Given the description of an element on the screen output the (x, y) to click on. 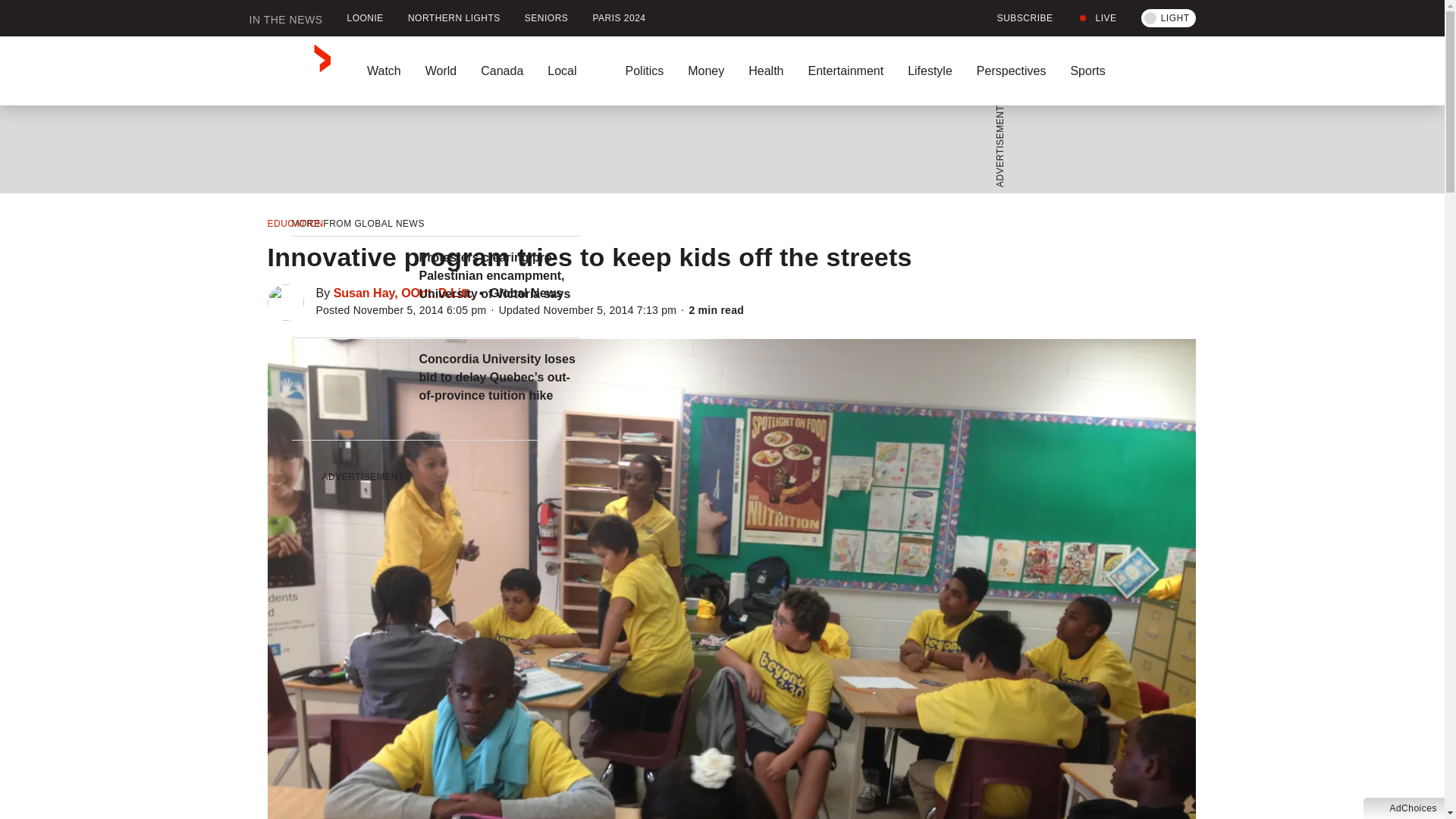
Canada (501, 70)
Local (573, 70)
NORTHERN LIGHTS (454, 18)
Posts by Susan Hay, OOnt. D.Litt. (403, 293)
LIVE (1096, 18)
Perspectives (1010, 70)
Lifestyle (929, 70)
LOONIE (365, 18)
GlobalNews home (289, 70)
SUBSCRIBE (1015, 18)
SENIORS (546, 18)
PARIS 2024 (618, 18)
Politics (643, 70)
